Given the description of an element on the screen output the (x, y) to click on. 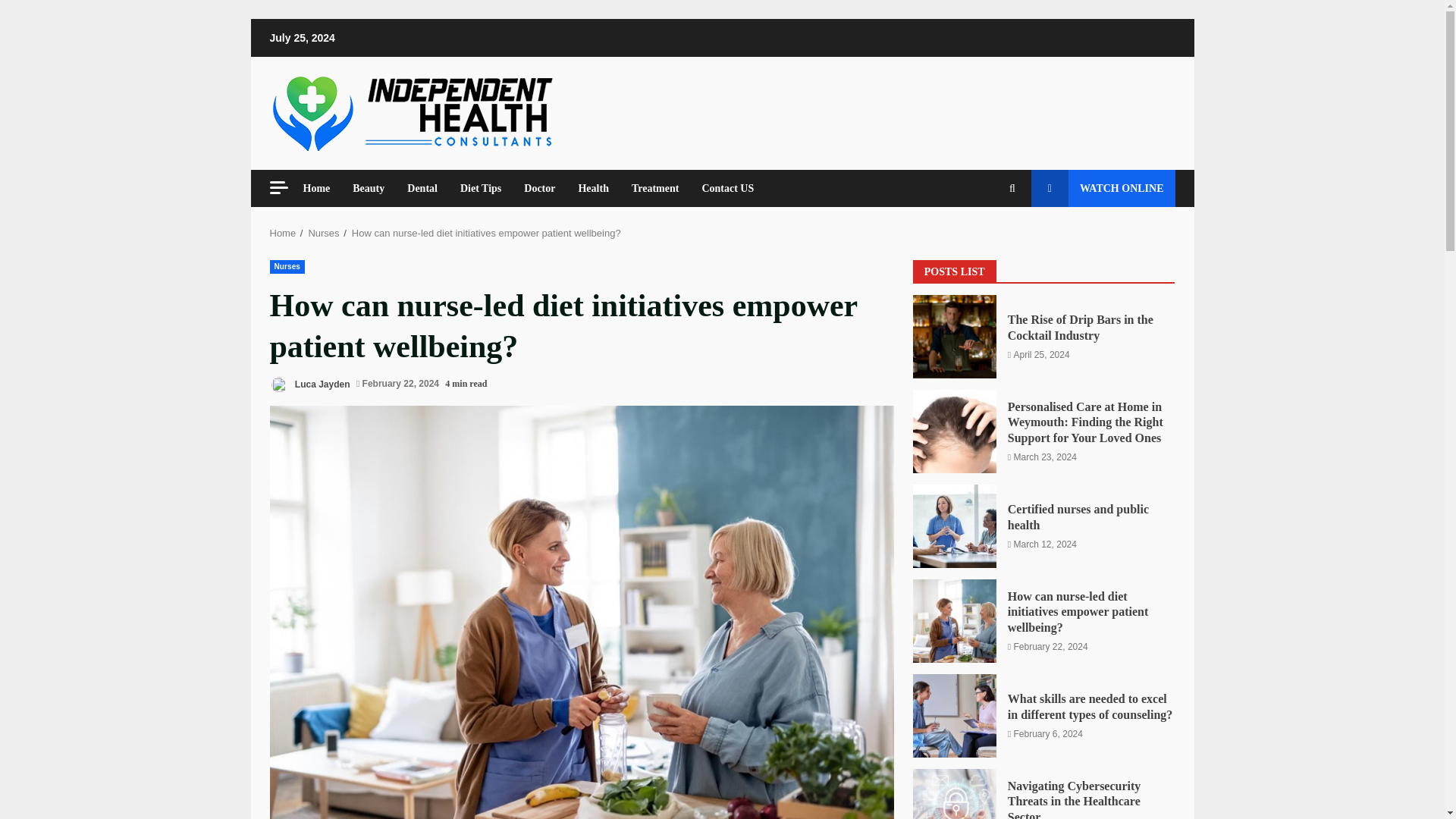
The Rise of Drip Bars in the Cocktail Industry (953, 336)
Navigating Cybersecurity Threats in the Healthcare Sector (953, 794)
Home (322, 188)
The Rise of Drip Bars in the Cocktail Industry (1080, 327)
Health (593, 188)
Dental (422, 188)
Contact US (722, 188)
Doctor (539, 188)
Diet Tips (480, 188)
WATCH ONLINE (1102, 188)
Home (283, 233)
